Given the description of an element on the screen output the (x, y) to click on. 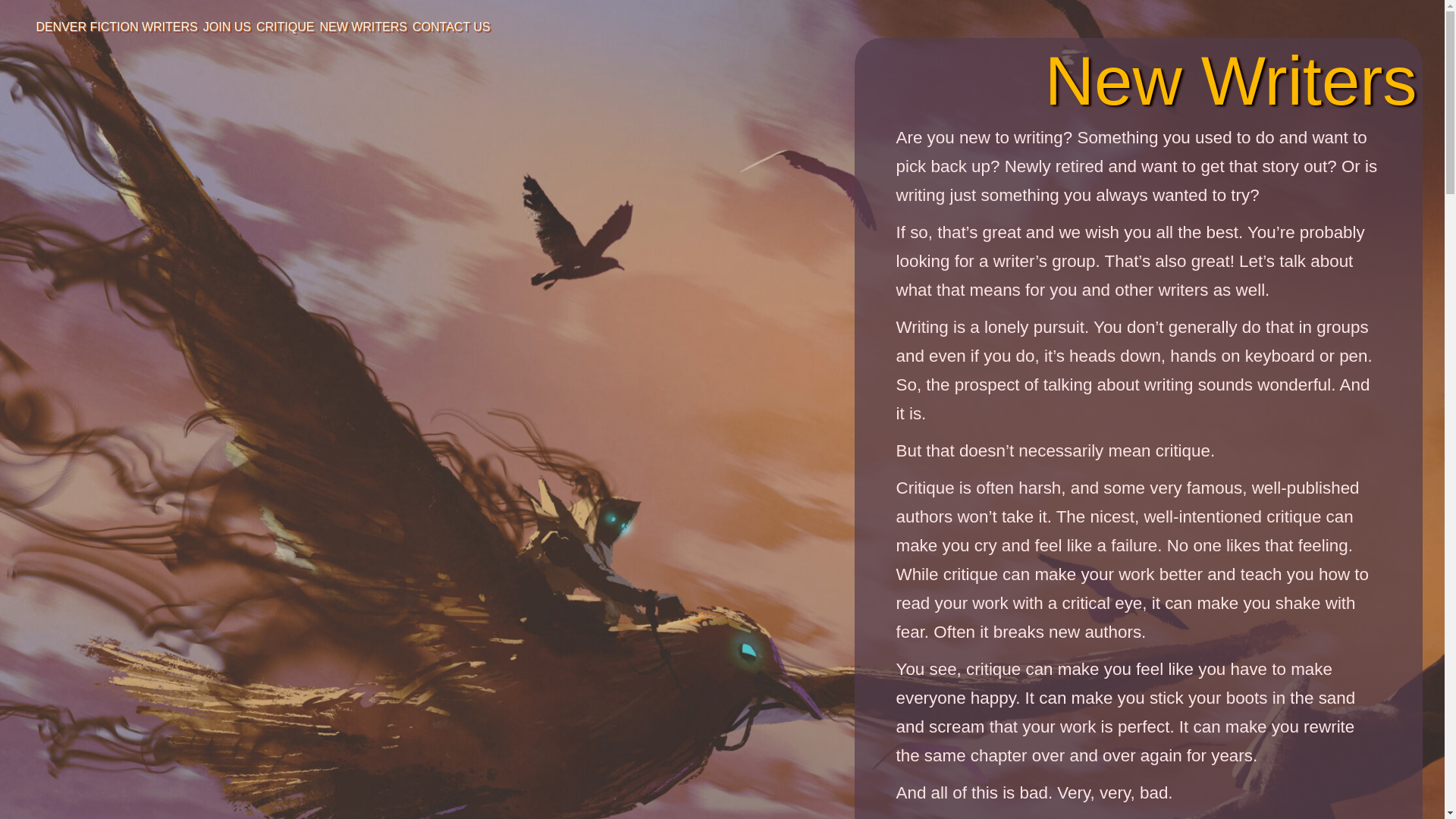
CRITIQUE (285, 26)
JOIN US (226, 26)
DENVER FICTION WRITERS (115, 26)
NEW WRITERS (362, 26)
CONTACT US (451, 26)
